Given the description of an element on the screen output the (x, y) to click on. 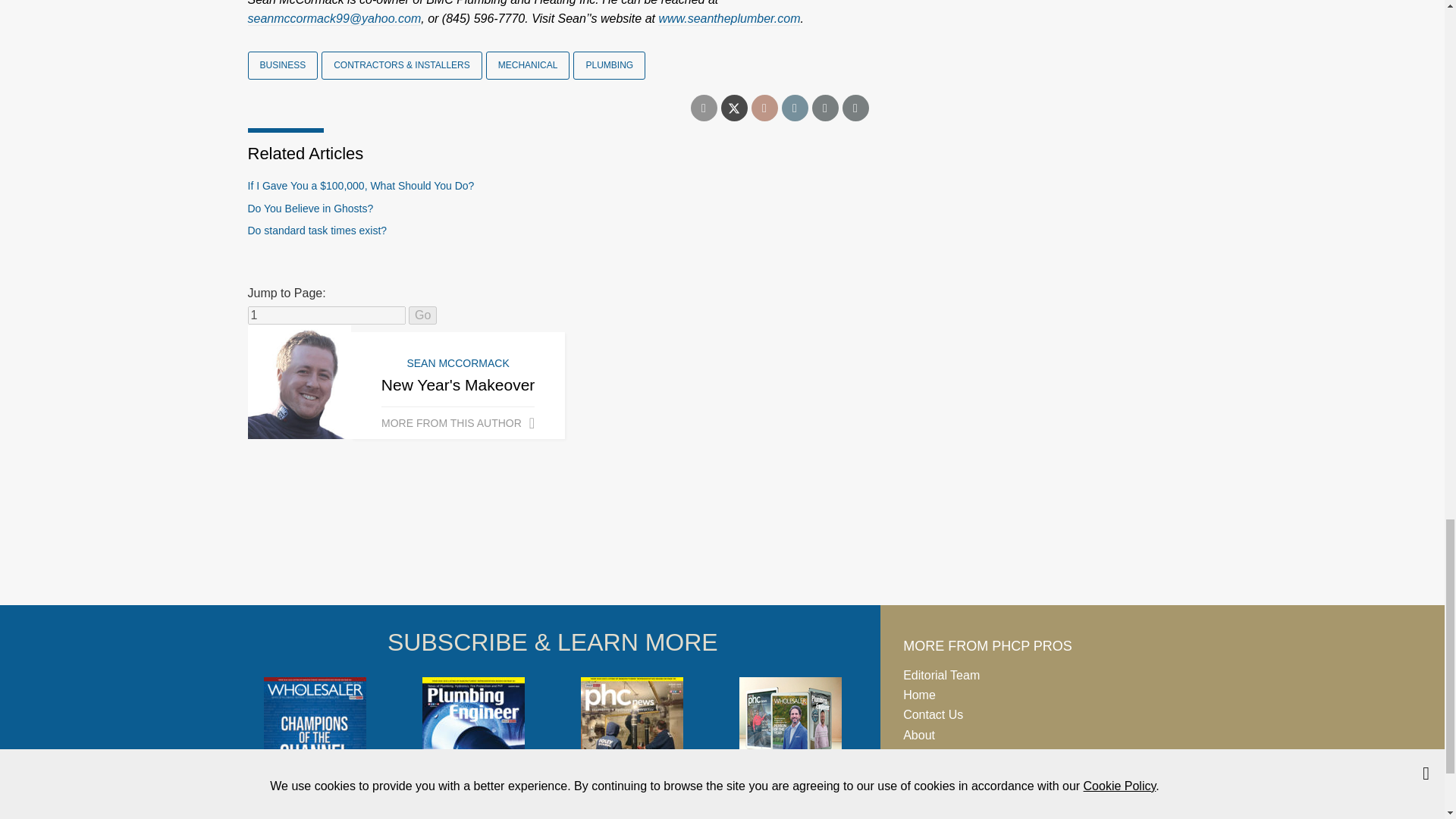
1 (325, 315)
Go (422, 315)
3rd party ad content (721, 548)
